Given the description of an element on the screen output the (x, y) to click on. 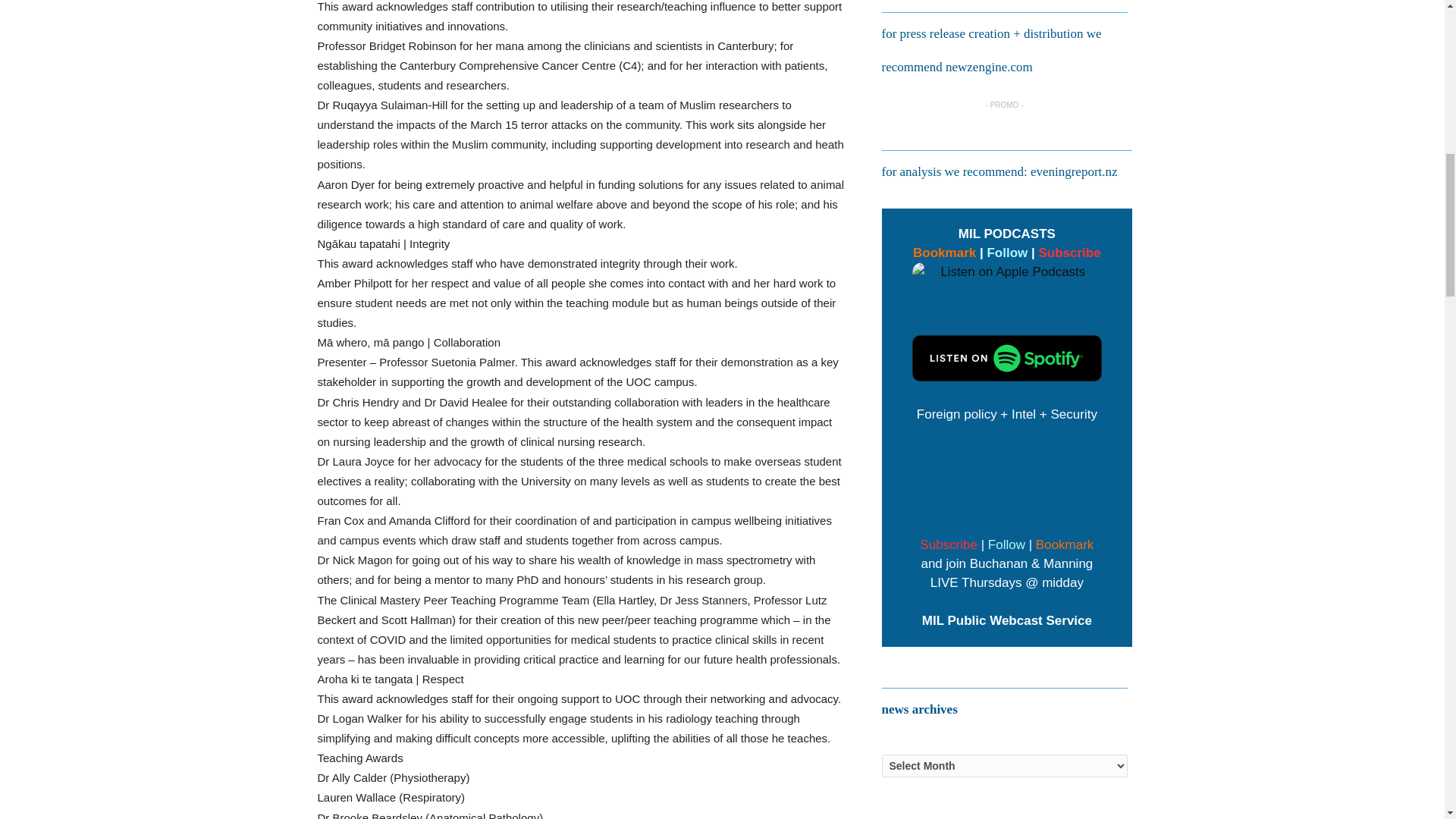
YouTube video player (1007, 477)
